Given the description of an element on the screen output the (x, y) to click on. 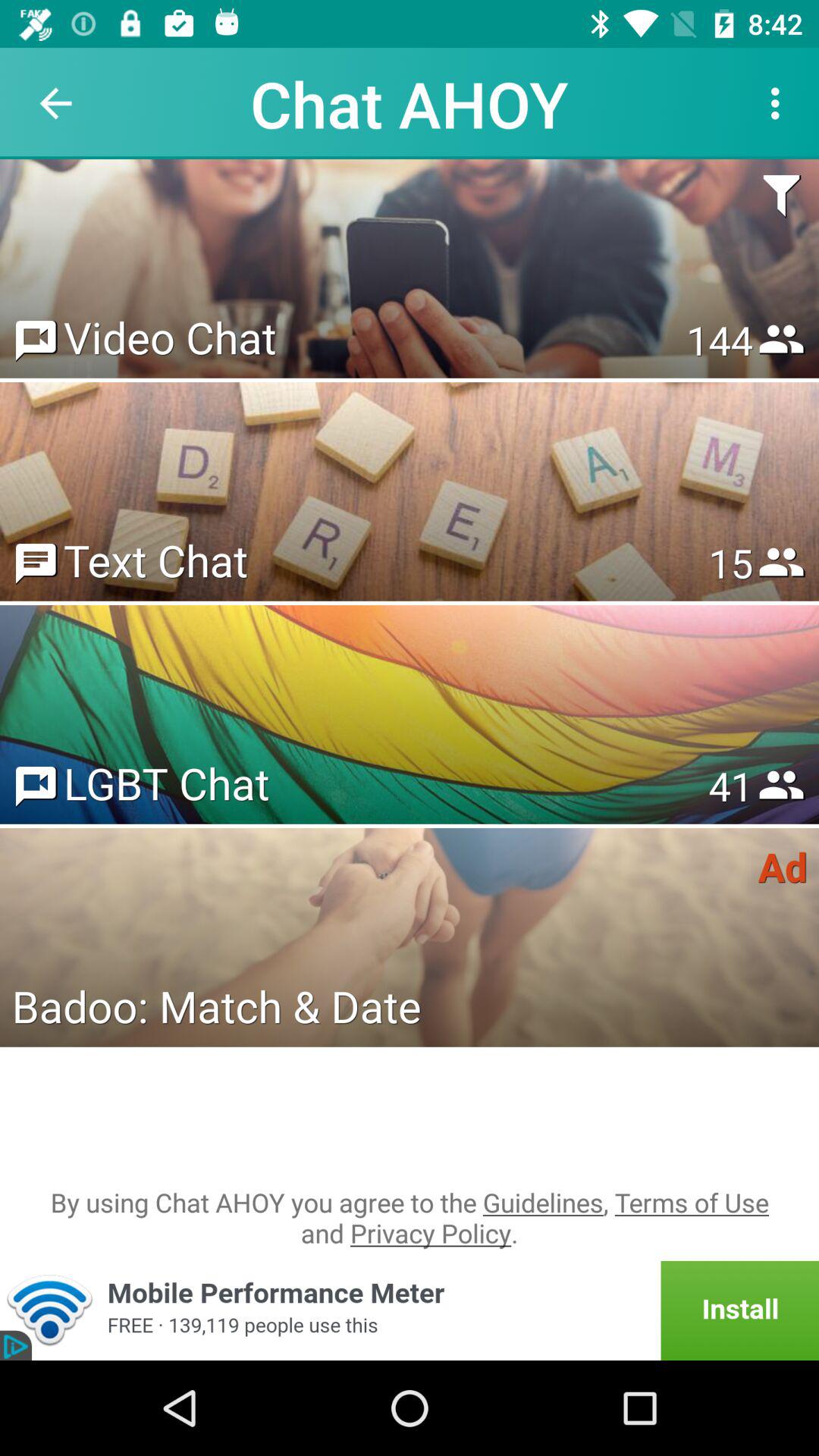
choose icon next to the 15 item (155, 559)
